Given the description of an element on the screen output the (x, y) to click on. 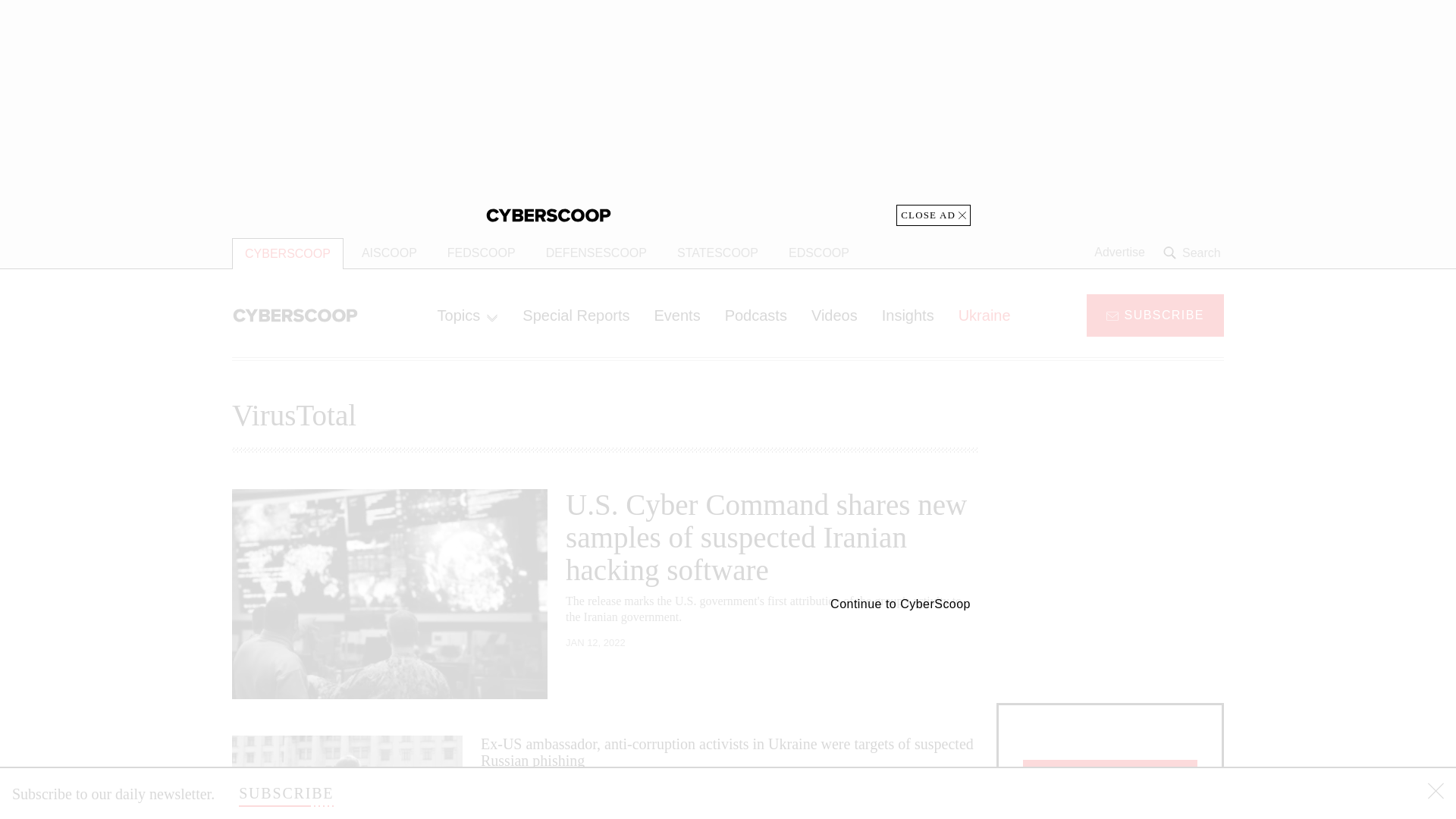
Ukraine (984, 315)
CYBERSCOOP (287, 253)
Advertise (1119, 252)
Insights (907, 315)
Search (1193, 252)
3rd party ad content (1109, 583)
Topics (468, 315)
AISCOOP (389, 253)
Special Reports (576, 315)
DEFENSESCOOP (596, 253)
Events (676, 315)
Podcasts (756, 315)
STATESCOOP (717, 253)
